Given the description of an element on the screen output the (x, y) to click on. 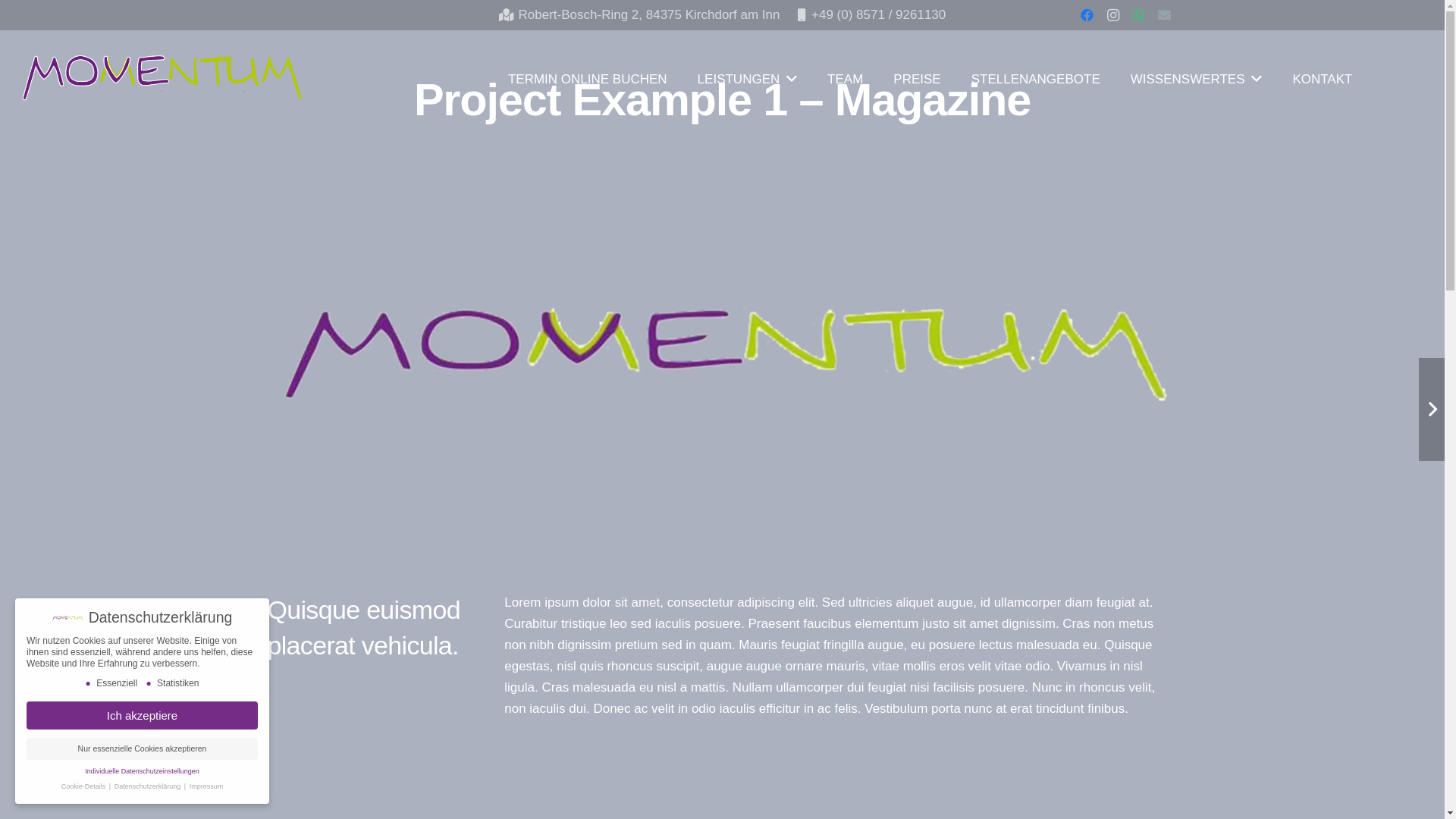
Facebook Element type: hover (1087, 15)
STELLENANGEBOTE Element type: text (1035, 79)
WISSENSWERTES Element type: text (1196, 79)
TERMIN ONLINE BUCHEN Element type: text (587, 79)
Ich akzeptiere Element type: text (141, 715)
WhatsApp Element type: hover (1138, 15)
PREISE Element type: text (916, 79)
Individuelle Datenschutzeinstellungen Element type: text (141, 771)
KONTAKT Element type: text (1322, 79)
E-Mail Element type: hover (1164, 15)
Cookie-Details Element type: text (84, 786)
Robert-Bosch-Ring 2, 84375 Kirchdorf am Inn Element type: text (639, 14)
TEAM Element type: text (845, 79)
LEISTUNGEN Element type: text (747, 79)
+49 (0) 8571 / 9261130 Element type: text (871, 14)
Instagram Element type: hover (1113, 15)
Nur essenzielle Cookies akzeptieren Element type: text (141, 748)
Impressum Element type: text (206, 786)
